Given the description of an element on the screen output the (x, y) to click on. 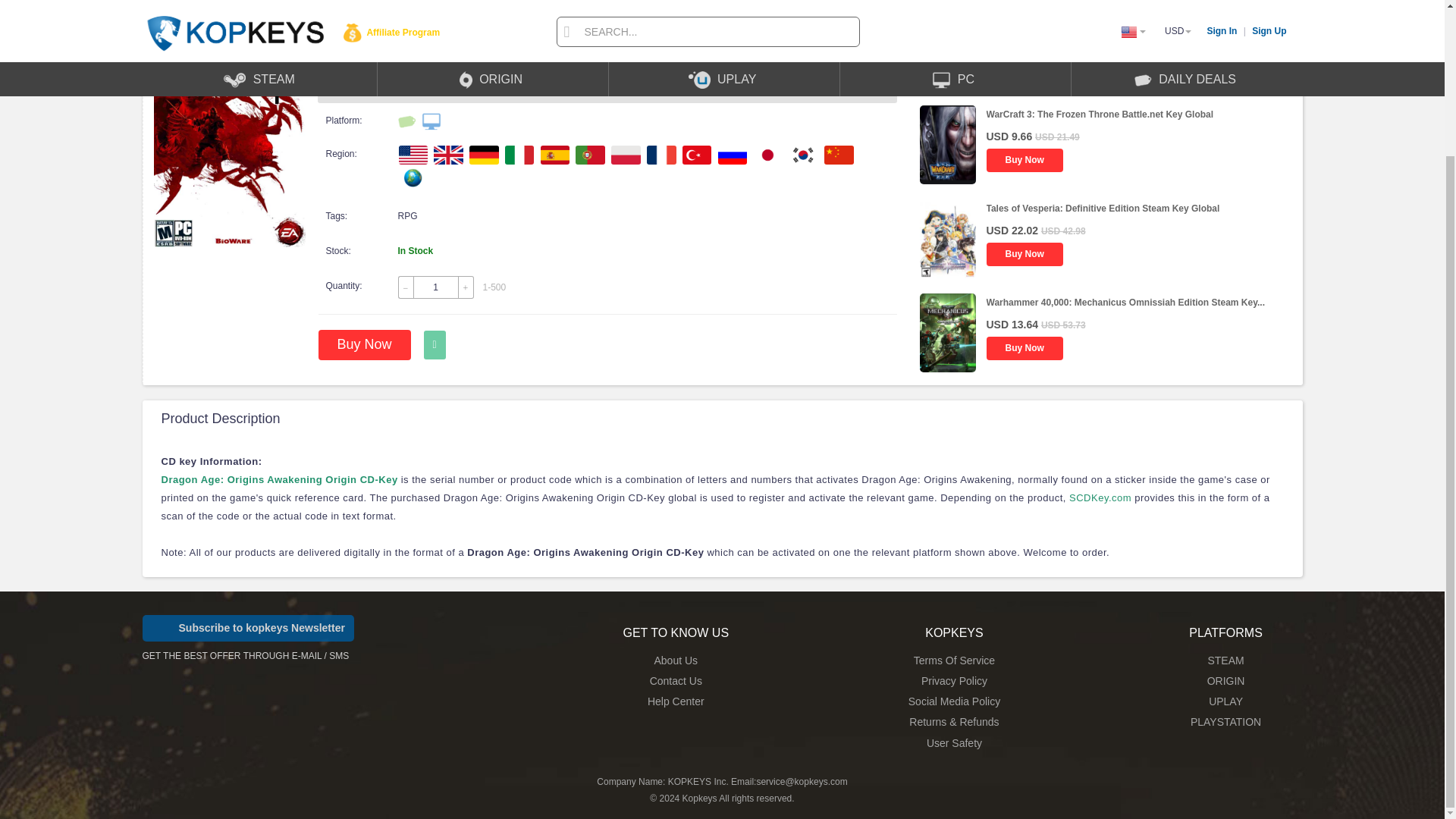
Subscribe to kopkeys Newsletter (247, 628)
Contact Us (675, 680)
Dragon Age: Origins Awakening Origin CD-Key (278, 479)
Help Center (675, 701)
Warhammer 40,000: Mechanicus Omnissiah Edition Steam Key... (1124, 302)
WarCraft 3: The Frozen Throne Battle.net Key Global (1098, 113)
SCDKey.com (1099, 497)
Devil May Cry 5 Deluxe Edition Steam Key Global (1091, 20)
Terms Of Service (954, 660)
1 (435, 287)
